Given the description of an element on the screen output the (x, y) to click on. 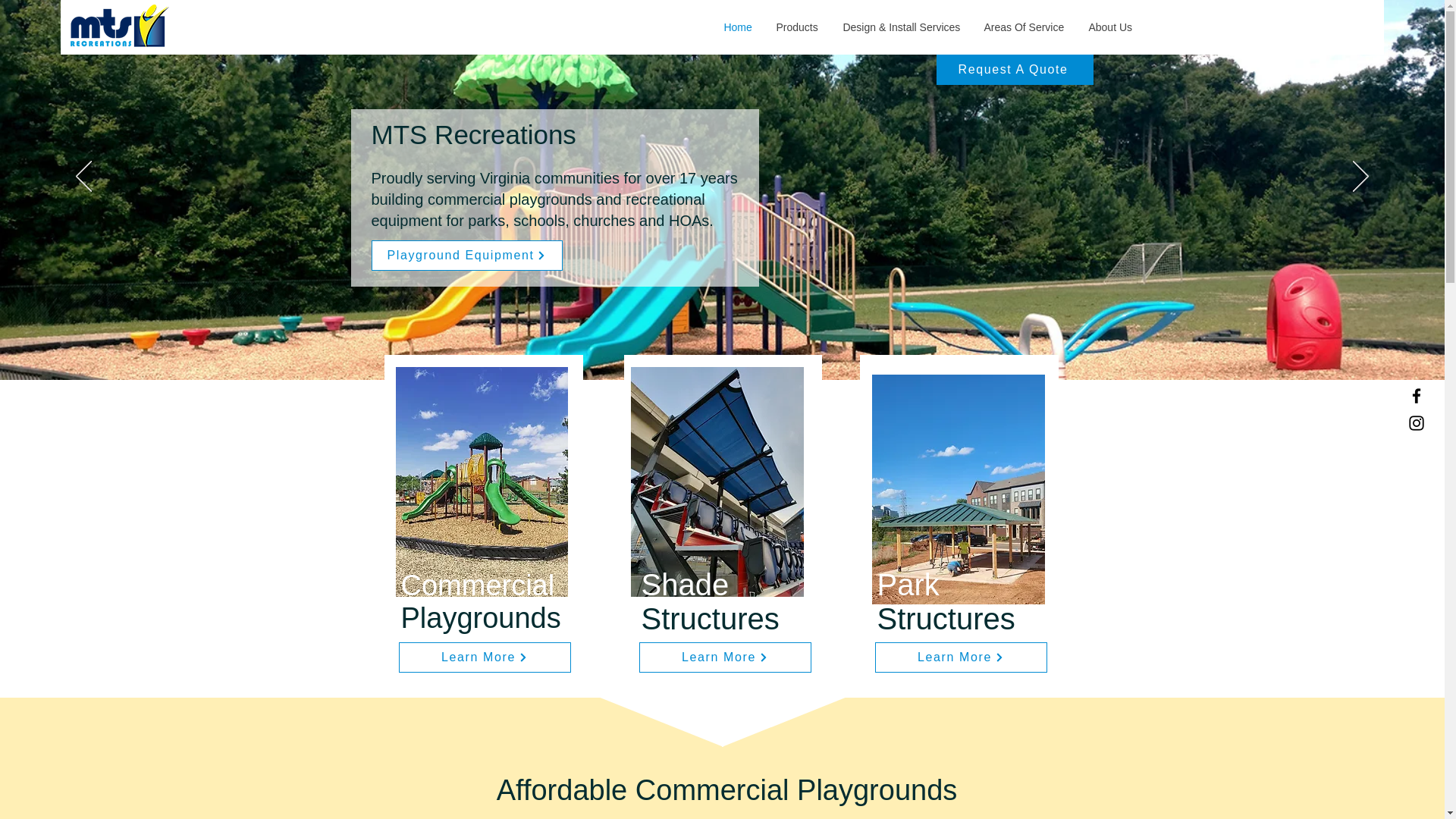
Request A Quote (1014, 69)
Areas Of Service (1024, 26)
park shade structure canopies (716, 481)
Playground Equipment (466, 255)
Home (737, 26)
mts recreations logo (118, 25)
playground with slides (481, 481)
Learn More (960, 657)
Learn More (484, 657)
Learn More (724, 657)
About Us (1109, 26)
wooden park structure (958, 489)
